Given the description of an element on the screen output the (x, y) to click on. 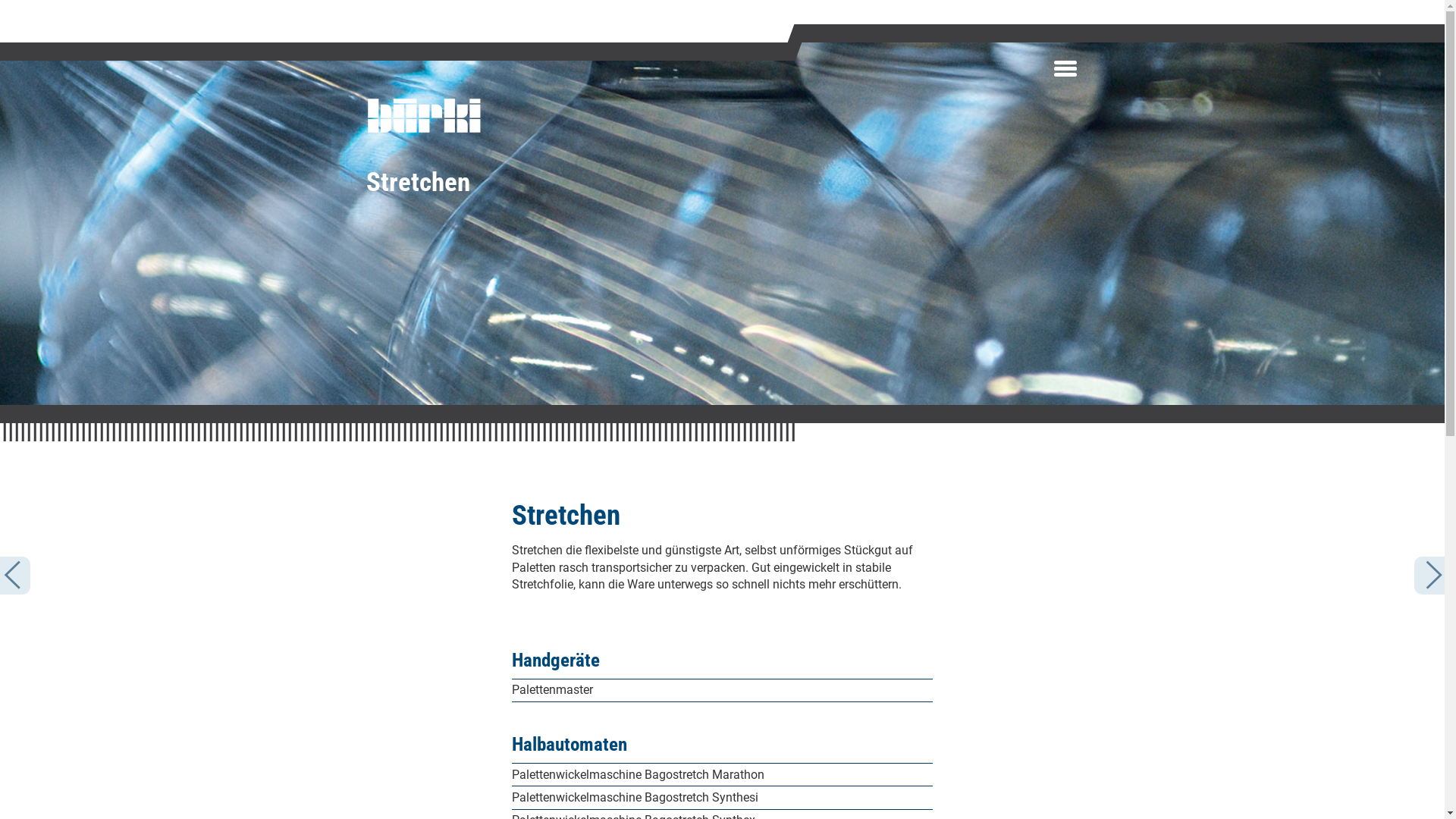
Palettenwickelmaschine Bagostretch Synthesi Element type: text (721, 797)
Palettenwickelmaschine Bagostretch Marathon Element type: text (721, 774)
Stretchen Element type: text (417, 181)
Palettenmaster Element type: text (721, 690)
